Given the description of an element on the screen output the (x, y) to click on. 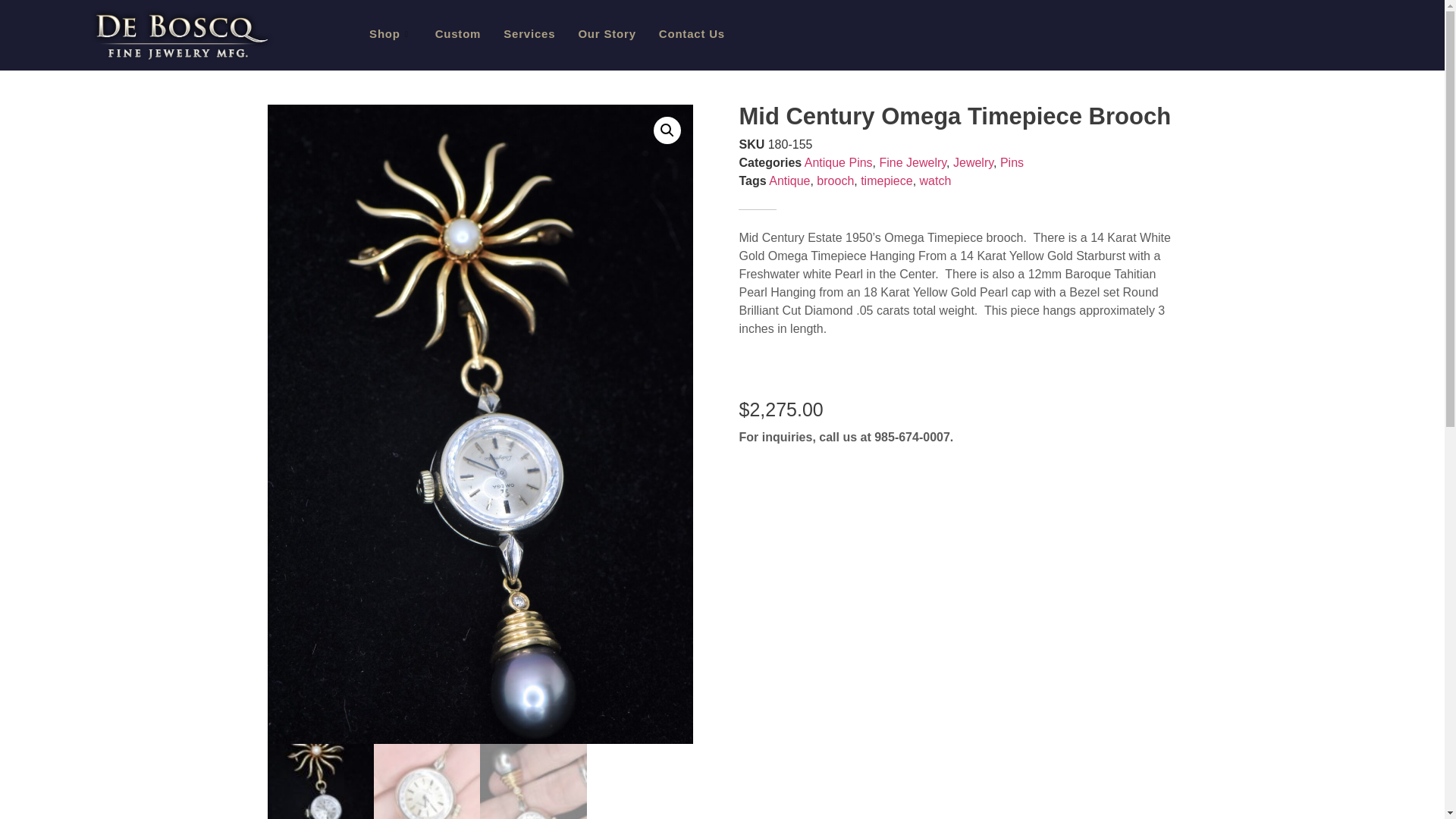
Services (529, 33)
Shop (390, 33)
Custom (458, 33)
Our Story (606, 33)
Contact Us (691, 33)
